Given the description of an element on the screen output the (x, y) to click on. 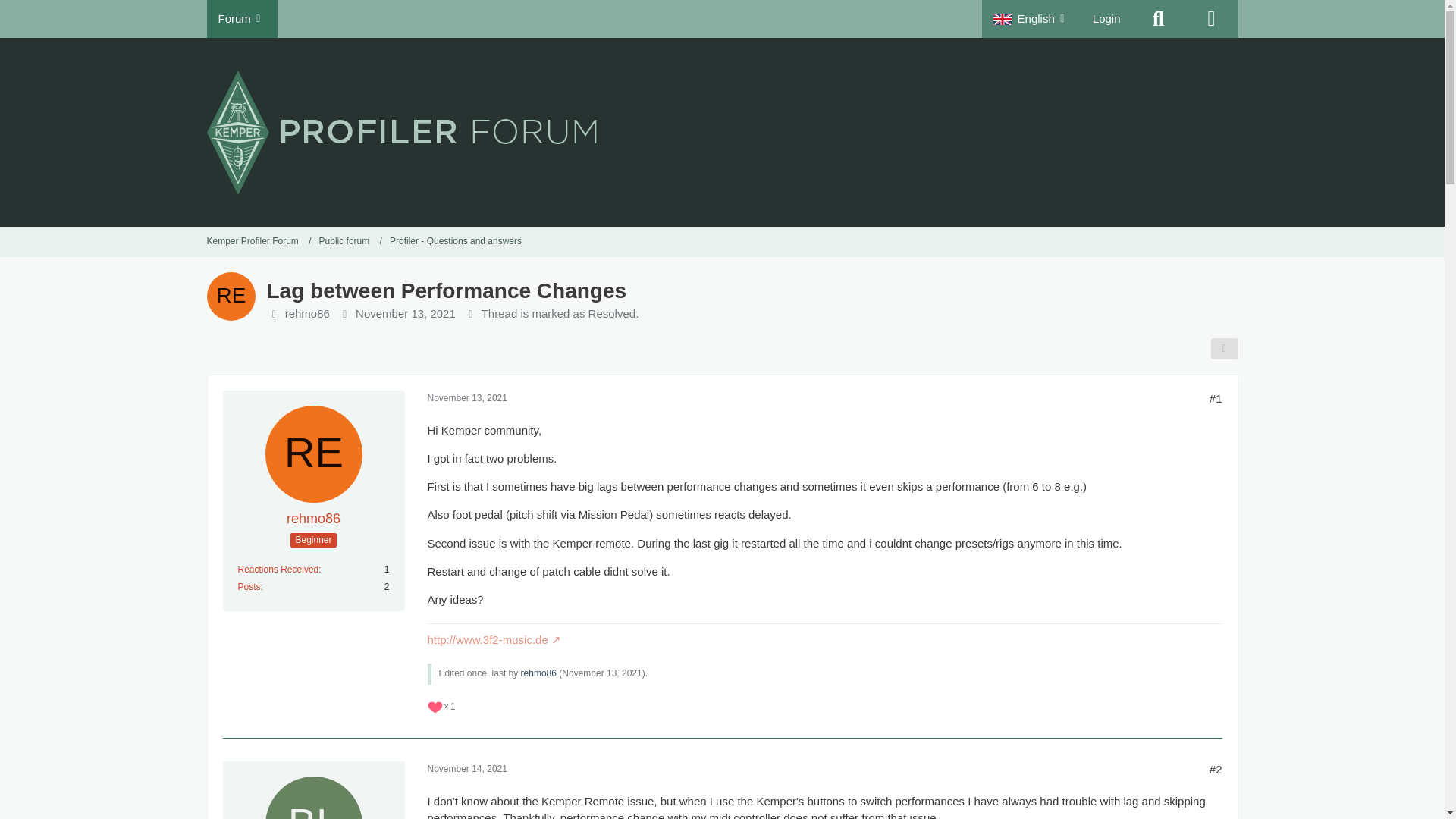
Public forum (349, 241)
rehmo86 (313, 518)
Profiler - Questions and answers (455, 241)
November 14, 2021November 14, 2021 at 1:10 AM (467, 768)
Kemper Profiler Forum (258, 241)
1 (441, 707)
Kemper Amps Homepage (1211, 18)
November 13, 2021November 13, 2021 at 3:15 PM (467, 398)
Reactions Received (278, 569)
Public forum (343, 241)
rehmo86 (538, 673)
Login (1106, 18)
November 13, 2021November 13, 2021 at 3:15 PM (405, 313)
rehmo86 (307, 313)
Kemper Profiler Forum (252, 241)
